Given the description of an element on the screen output the (x, y) to click on. 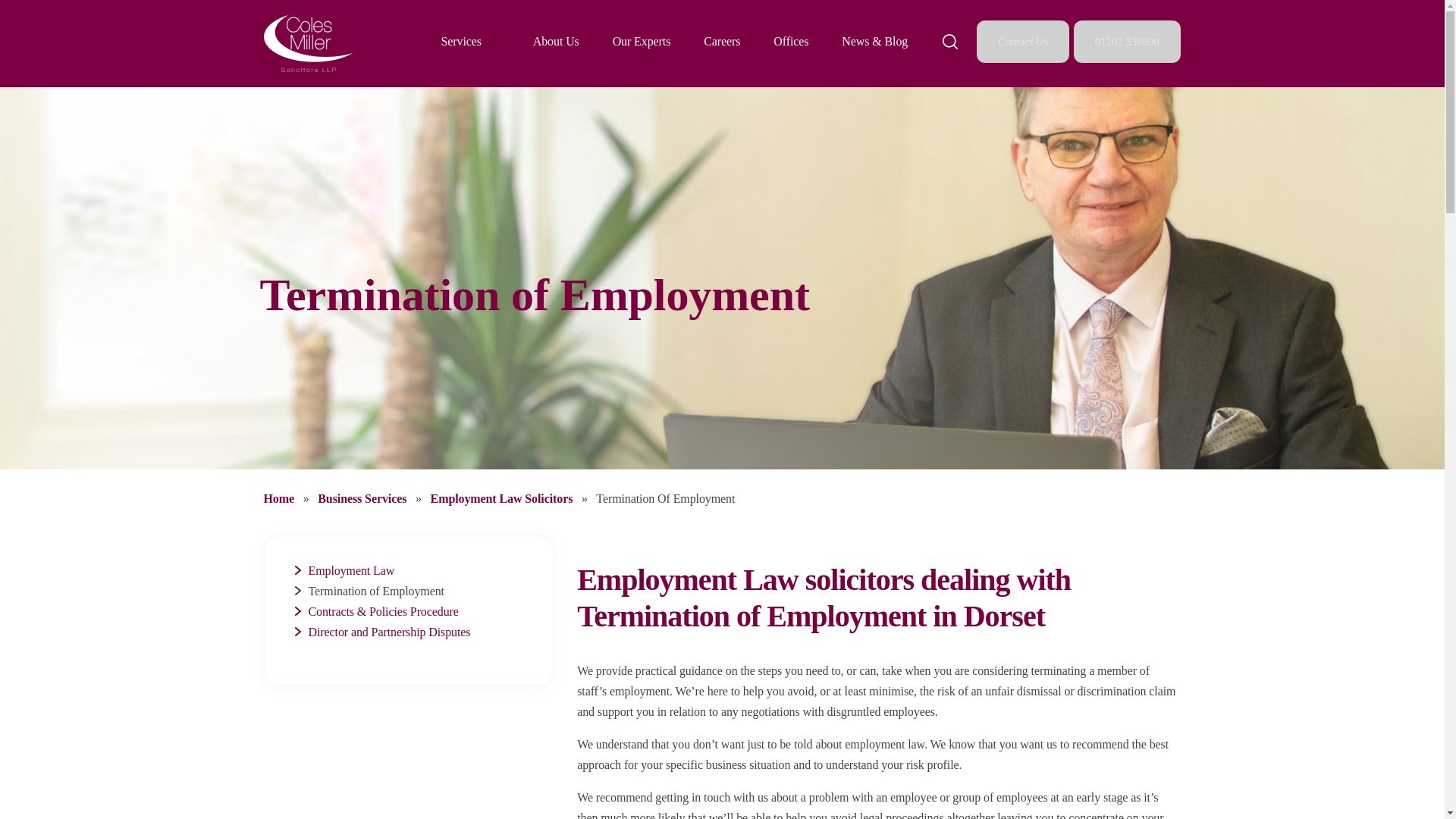
01202 338800 (1126, 41)
About Us (555, 41)
white text - transparent (307, 43)
Home (280, 498)
Our Experts (641, 41)
Employment Law (350, 570)
Employment Law Solicitors (503, 498)
Contact Us (1024, 41)
Careers (721, 41)
Business Services (363, 498)
